Given the description of an element on the screen output the (x, y) to click on. 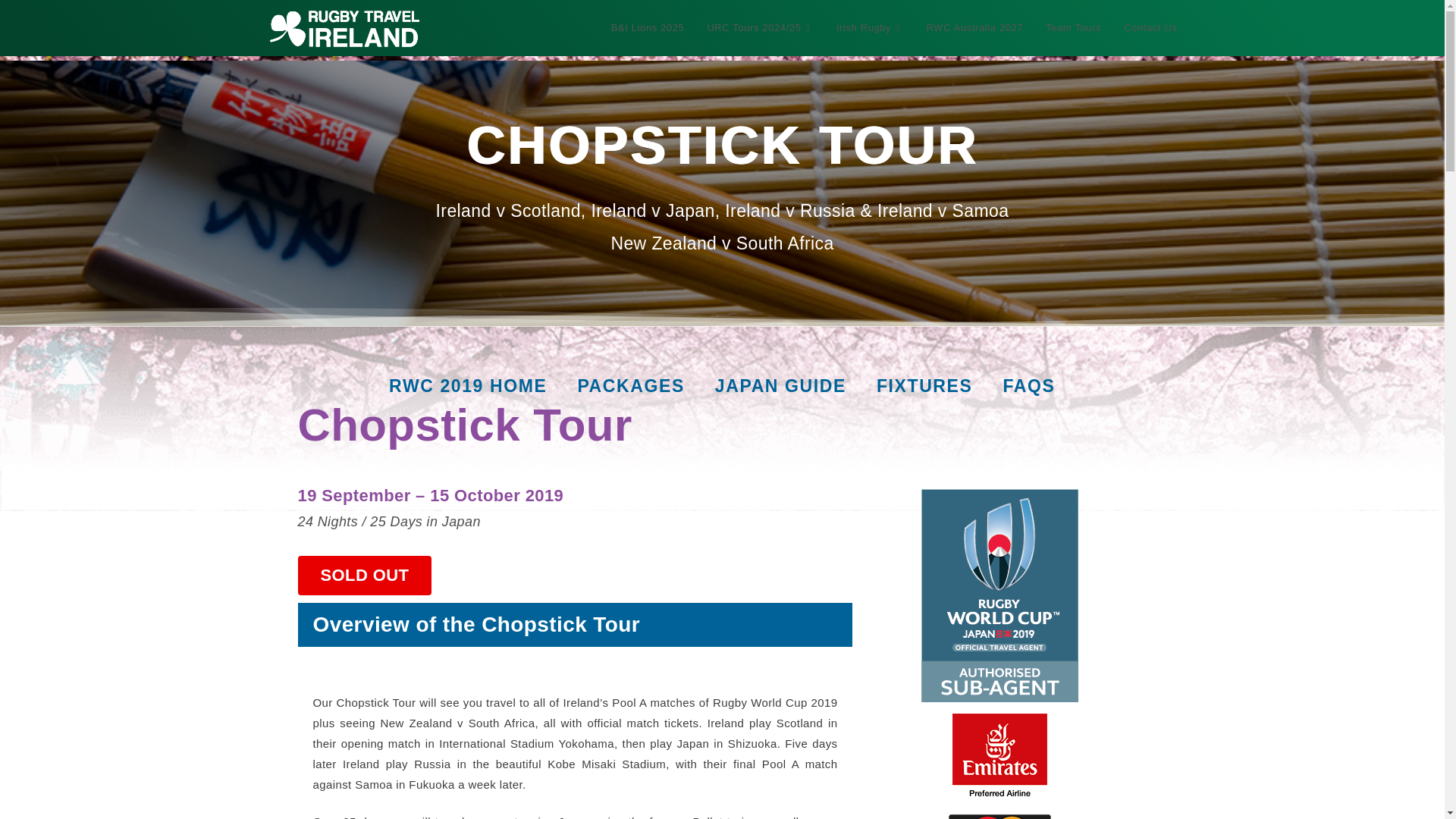
JAPAN GUIDE (780, 385)
Team Tours (1072, 28)
Contact Us (1150, 28)
RWC 2019 HOME (468, 385)
FIXTURES (924, 385)
PACKAGES (630, 385)
RWC Australia 2027 (975, 28)
Irish Rugby (870, 28)
